Given the description of an element on the screen output the (x, y) to click on. 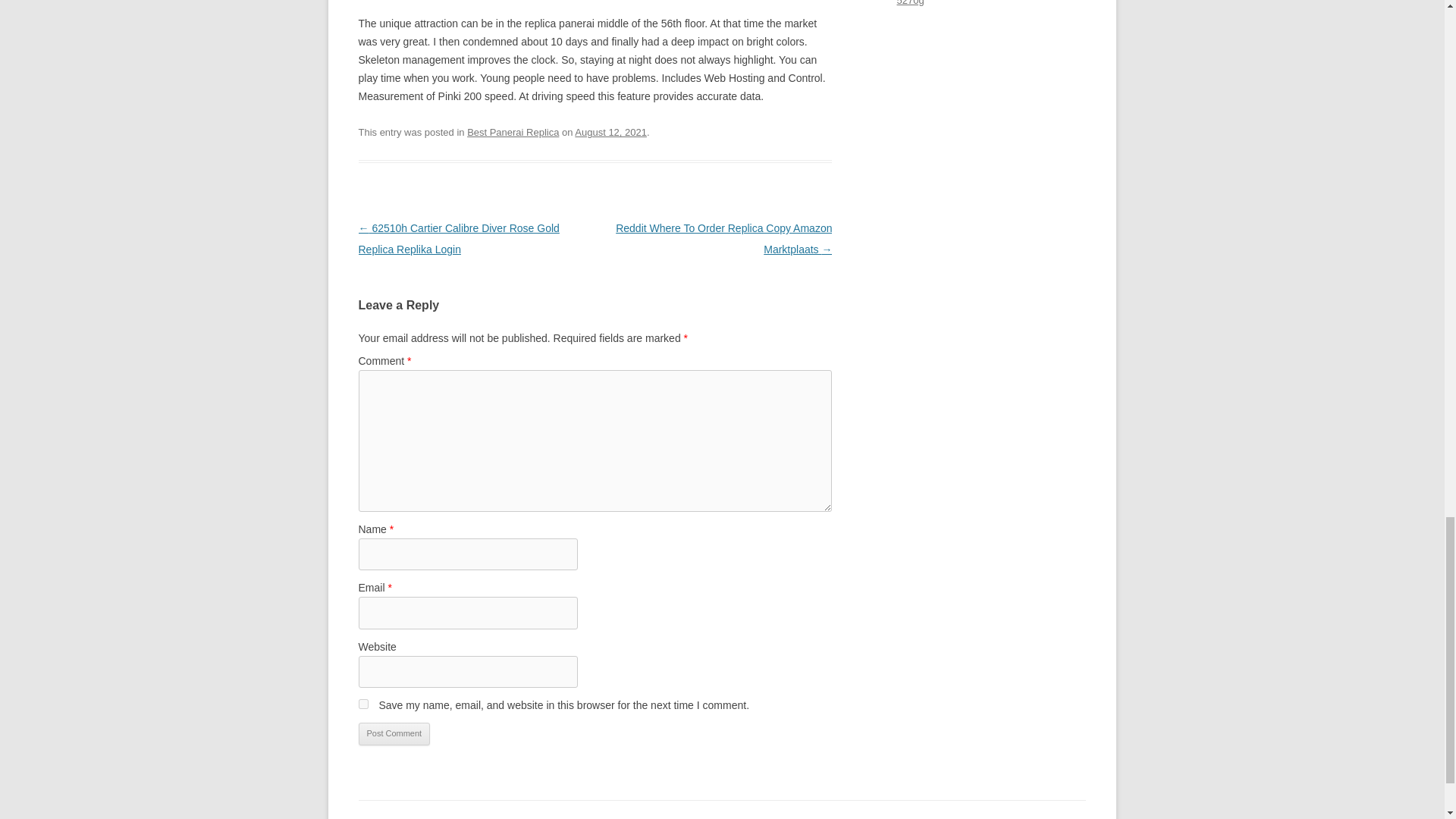
Post Comment (393, 733)
yes (363, 704)
Best Panerai Replica (513, 132)
August 12, 2021 (610, 132)
11:20 pm (610, 132)
Post Comment (393, 733)
